Given the description of an element on the screen output the (x, y) to click on. 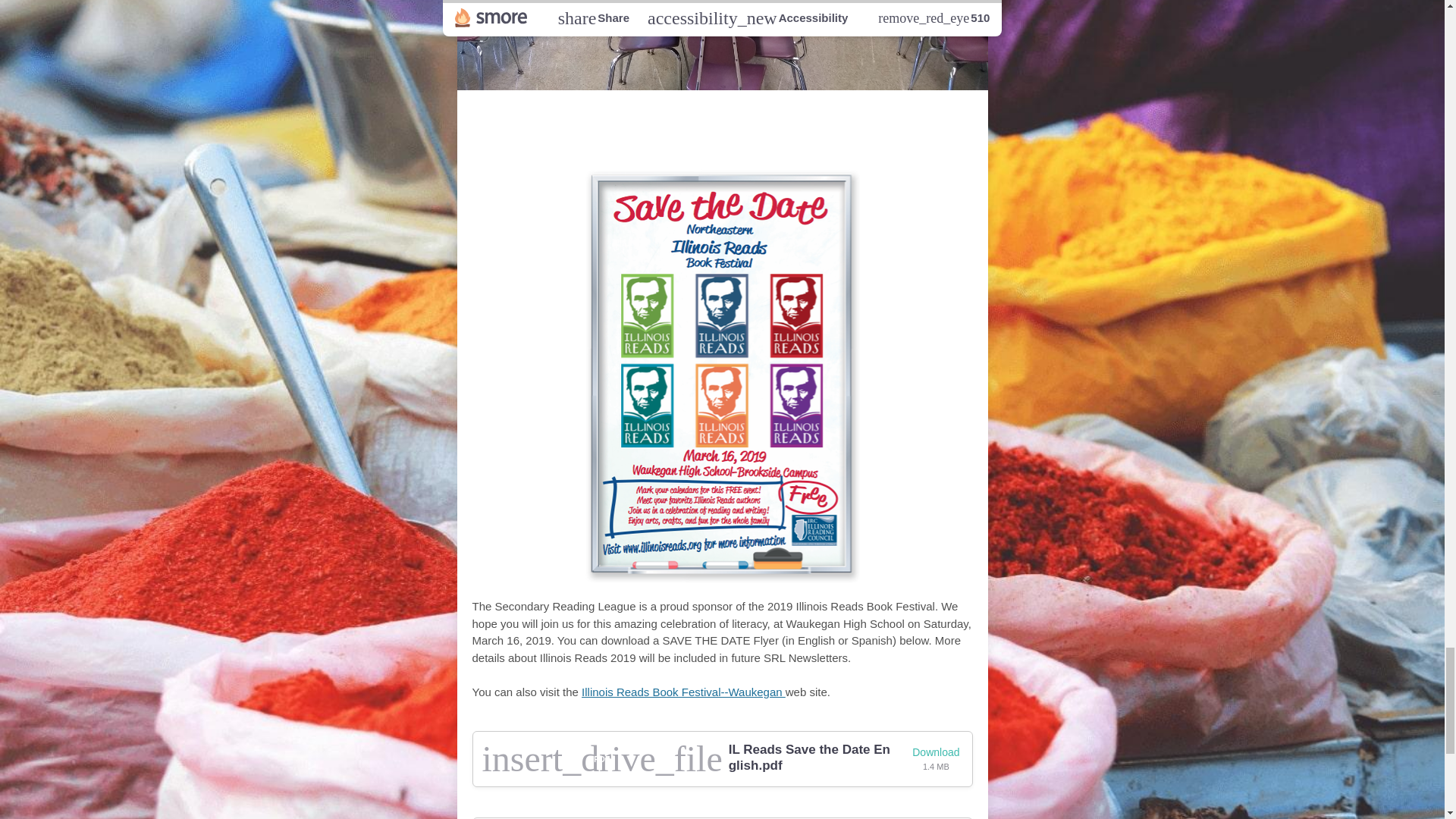
Illinois Reads Book Festival--Waukegan (683, 691)
THE (921, 117)
Book (715, 117)
Illinois (586, 117)
DATE! (722, 139)
2019 (523, 117)
Reads (655, 117)
Festival--SAVE (819, 117)
IL Reads Save the Date English.pdf (812, 757)
